Given the description of an element on the screen output the (x, y) to click on. 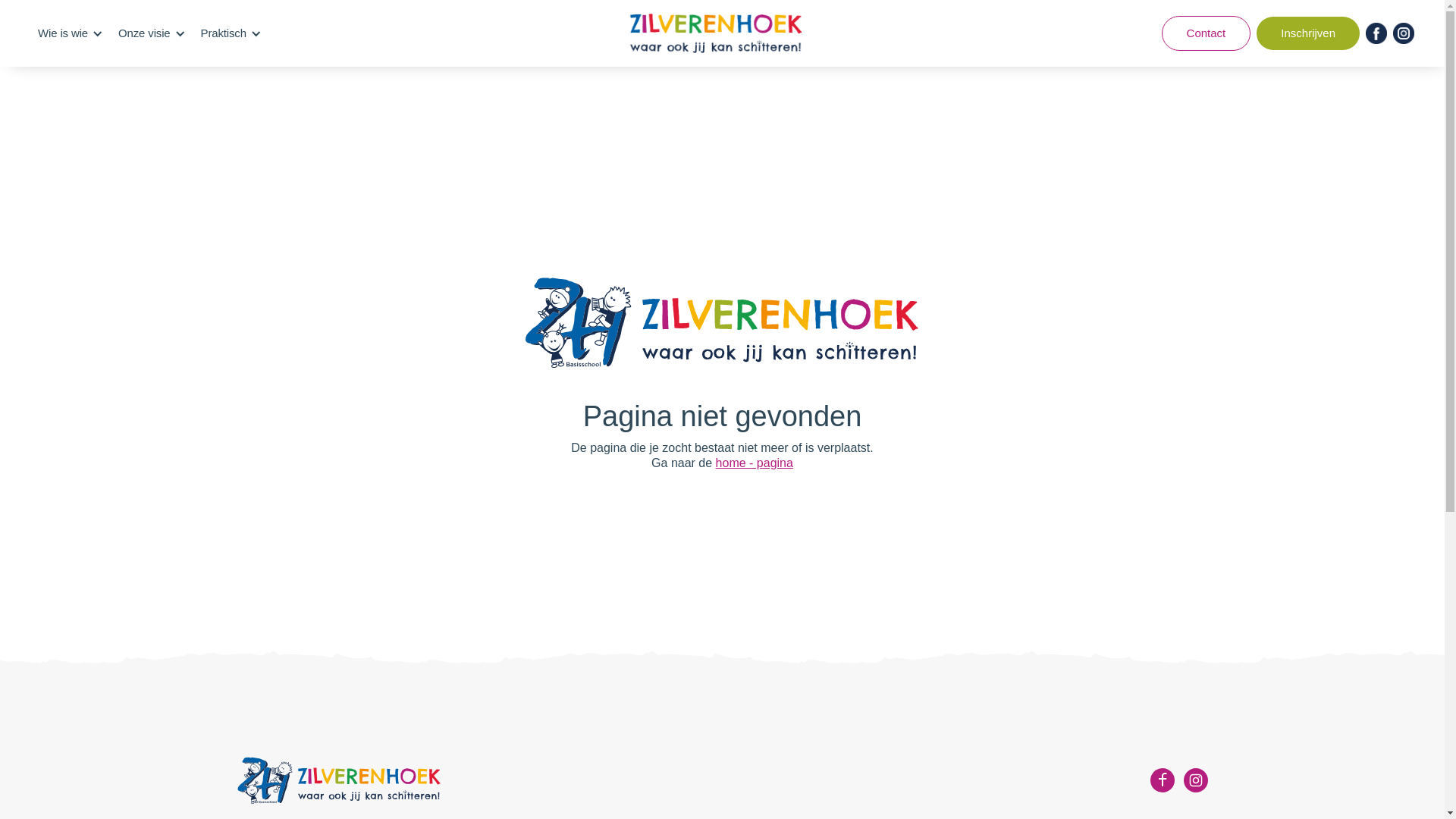
home - pagina Element type: text (754, 462)
Onze visie Element type: text (144, 32)
Inschrijven Element type: text (1307, 33)
Wie is wie Element type: text (62, 32)
Contact Element type: text (1206, 32)
